Given the description of an element on the screen output the (x, y) to click on. 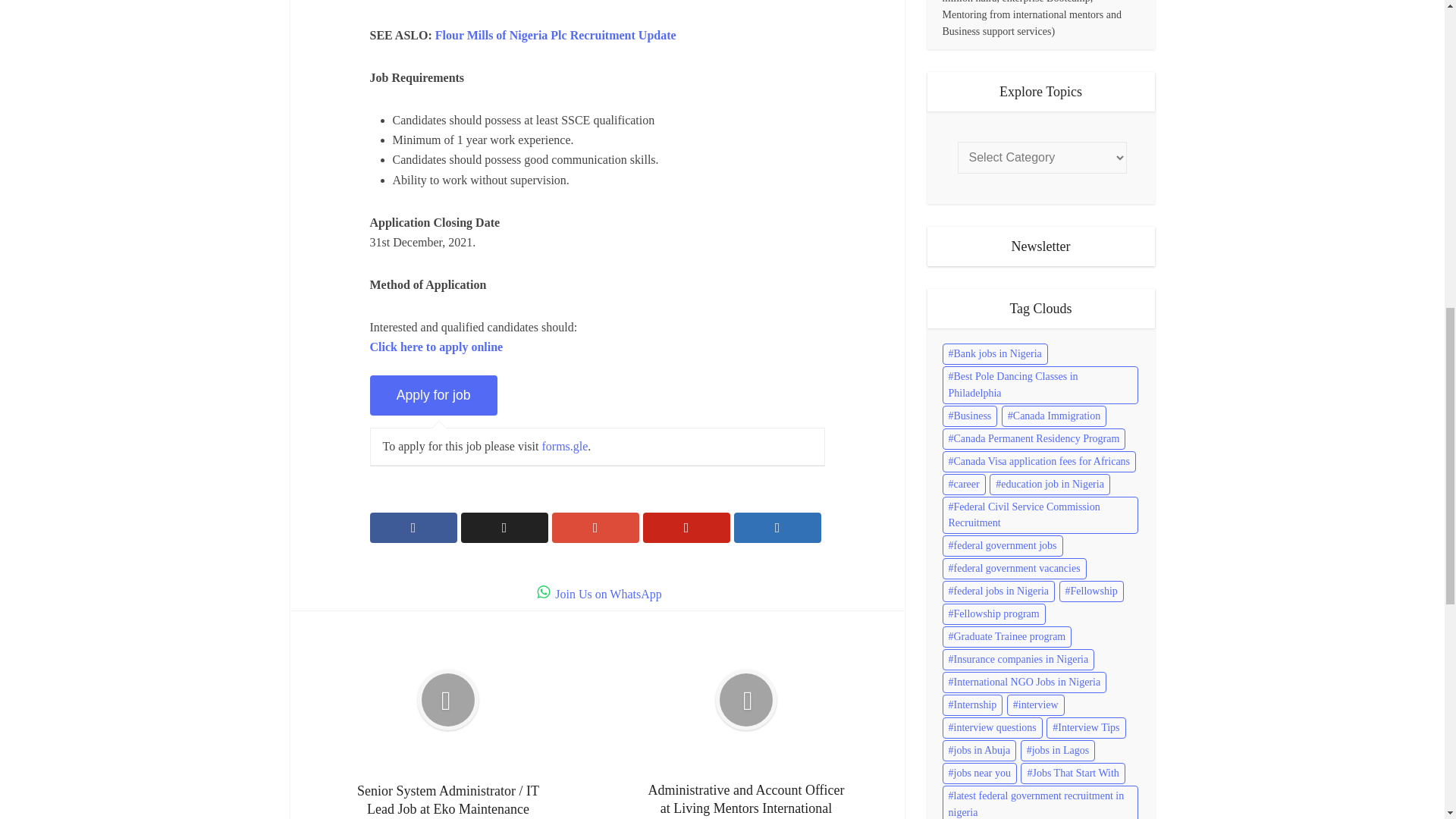
forms.gle (564, 445)
Flour Mills of Nigeria Plc Recruitment 2021 Update (556, 34)
Flour Mills of Nigeria Plc Recruitment Update (556, 34)
Click here to apply online (436, 346)
Join Us on WhatsApp (597, 594)
Join Us on WhatsApp (597, 594)
Apply for job (433, 395)
